Given the description of an element on the screen output the (x, y) to click on. 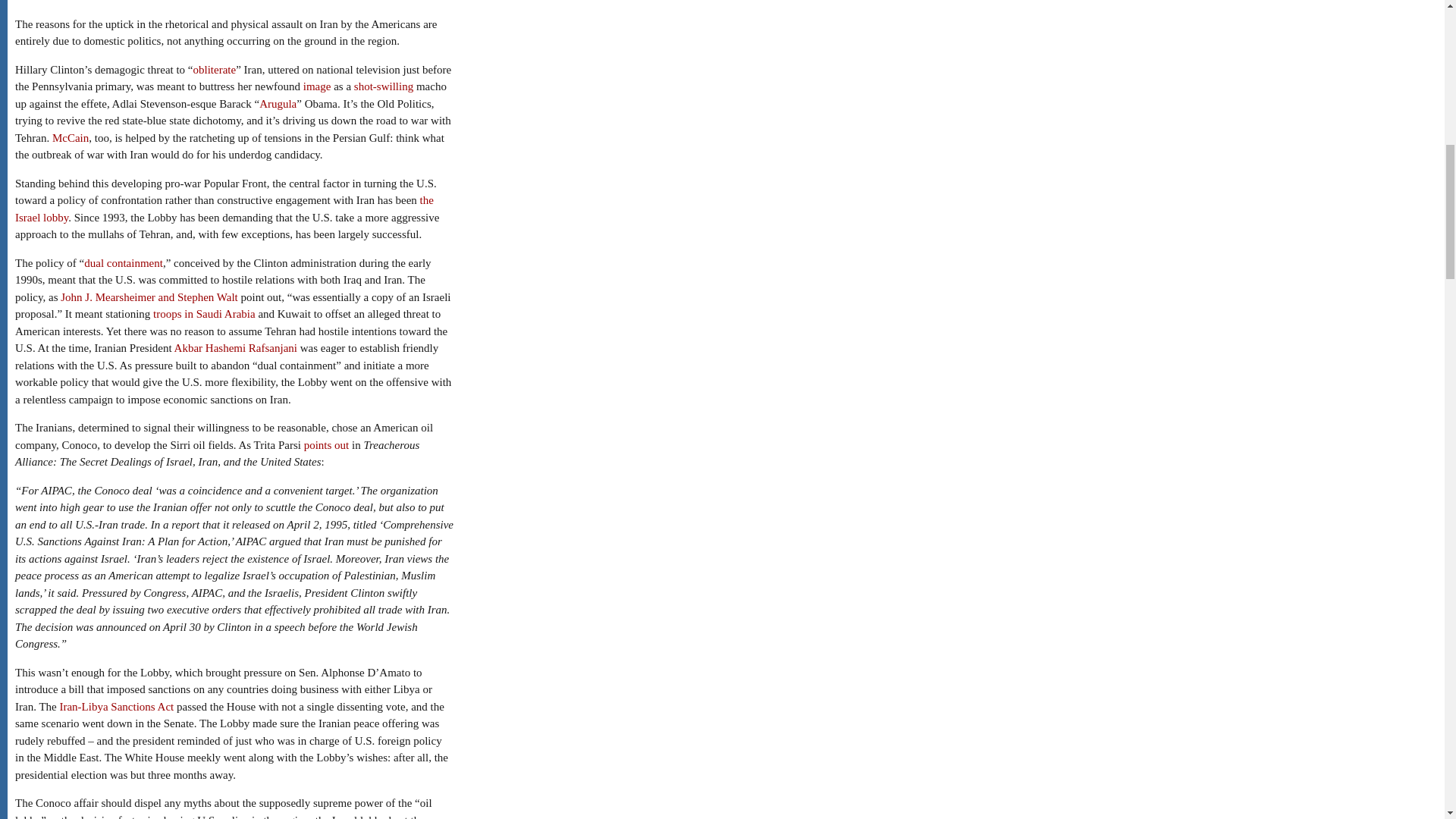
McCain (70, 137)
image (316, 86)
obliterate (214, 69)
dual containment (123, 263)
John J. Mearsheimer and Stephen Walt (149, 297)
shot-swilling (383, 86)
Arugula (278, 103)
the Israel lobby (223, 208)
